Given the description of an element on the screen output the (x, y) to click on. 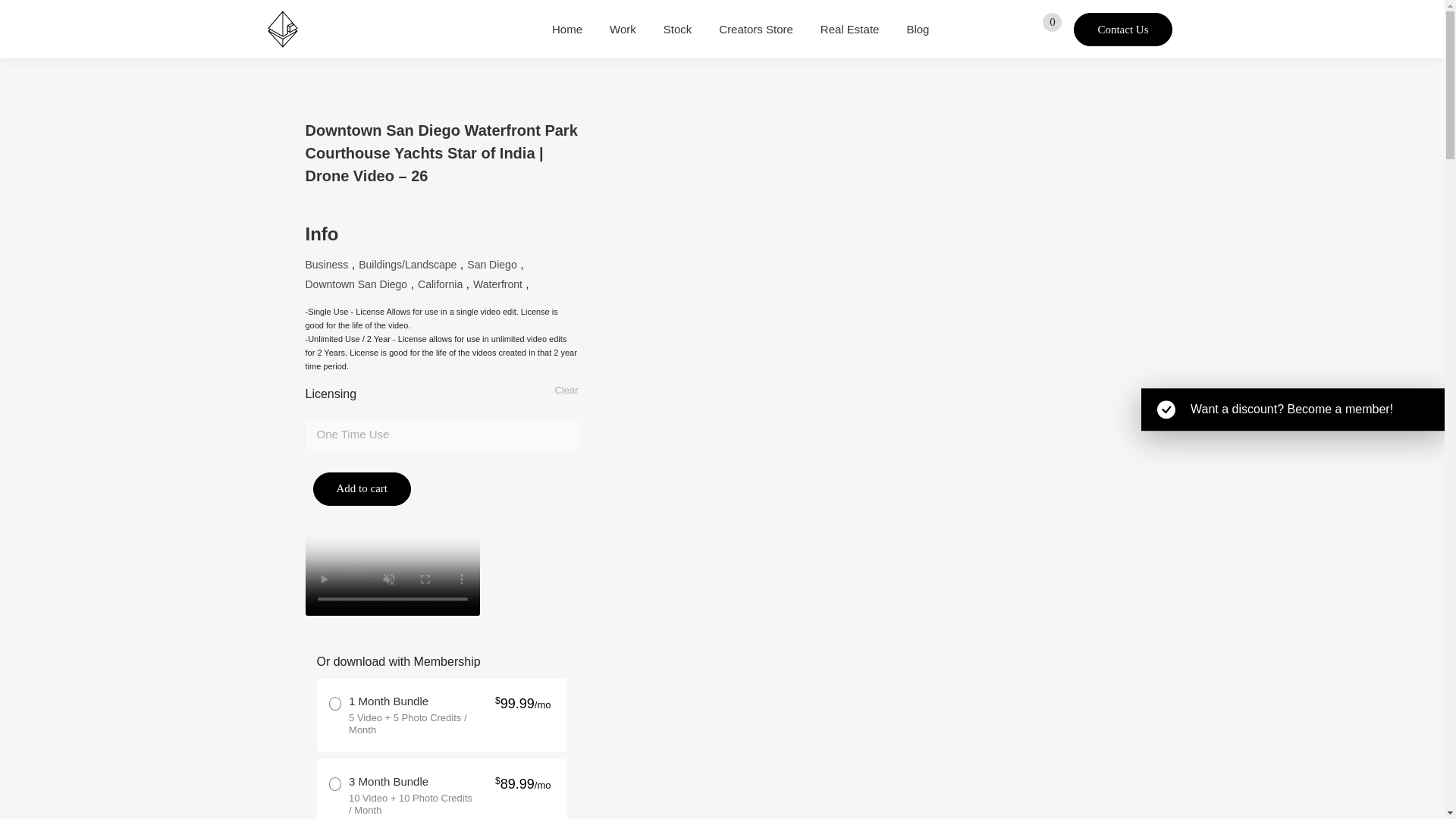
Work (623, 29)
Creators Store (756, 29)
Instagram page opens in new window (1006, 29)
Instagram page opens in new window (1006, 29)
 0 (1045, 28)
Facebook page opens in new window (983, 29)
Home (566, 29)
Blog (916, 29)
Contact Us (1123, 28)
Stock (678, 29)
Real Estate (849, 29)
Facebook page opens in new window (983, 29)
